Given the description of an element on the screen output the (x, y) to click on. 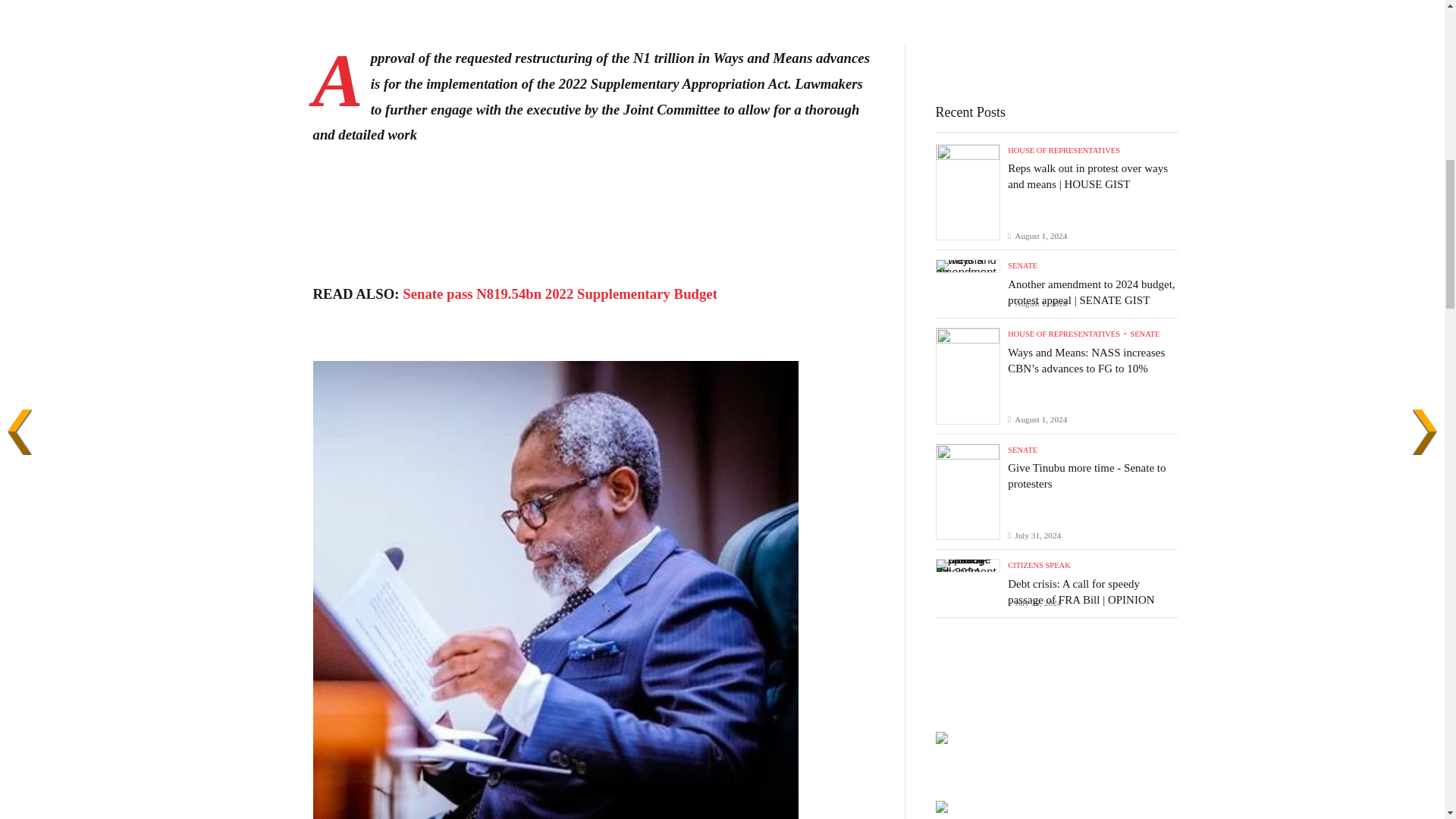
Senate pass N819.54bn 2022 Supplementary Budget (560, 293)
